Given the description of an element on the screen output the (x, y) to click on. 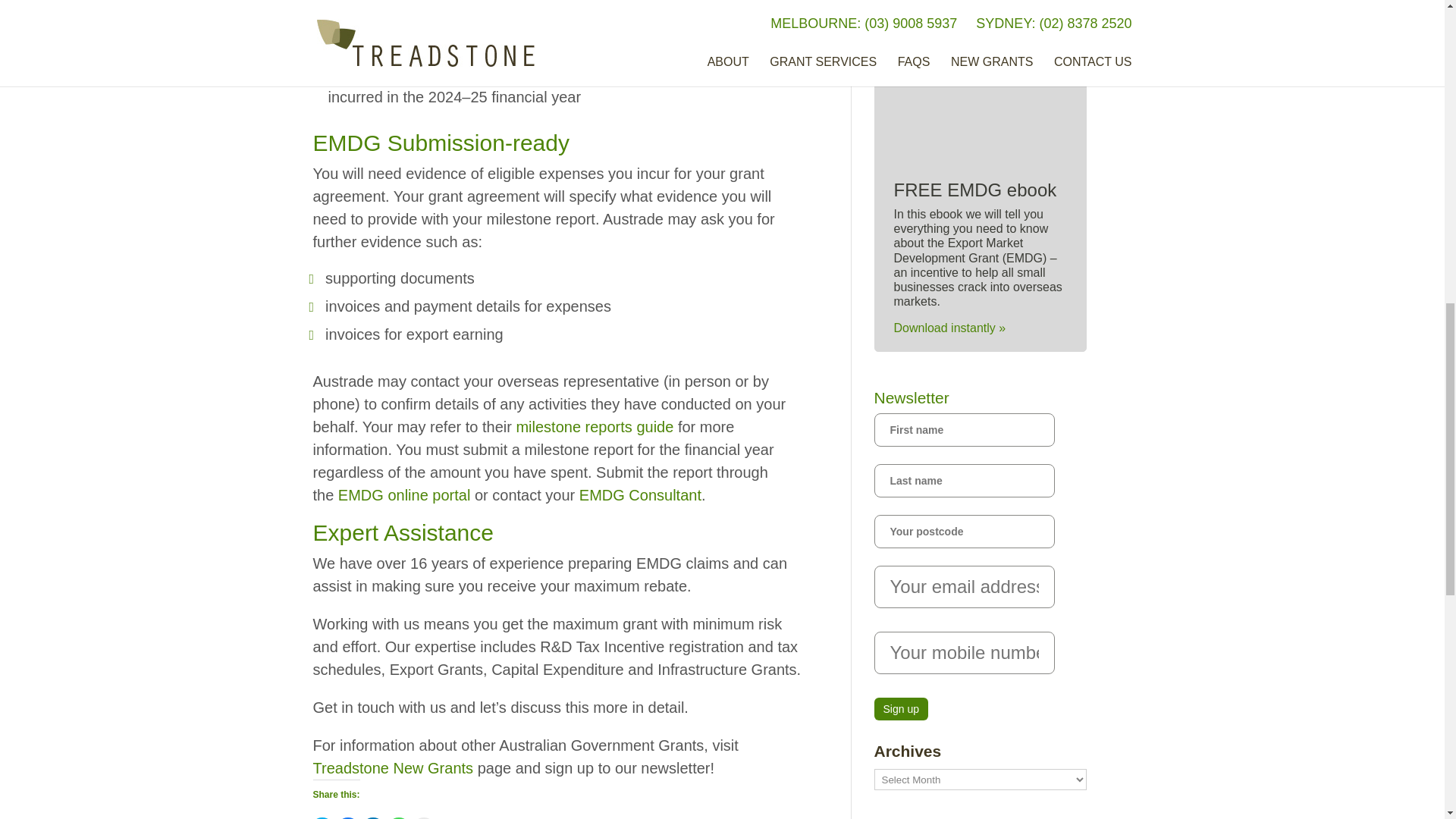
milestone reports guide (593, 426)
Click to share on WhatsApp (398, 818)
EMDG Consultant (640, 494)
EMDG online portal (403, 494)
Treadstone New Grants (393, 768)
Click to share on LinkedIn (373, 818)
Click to print (423, 818)
Click to share on Facebook (347, 818)
Click to share on Twitter (322, 818)
Sign up (900, 708)
